Given the description of an element on the screen output the (x, y) to click on. 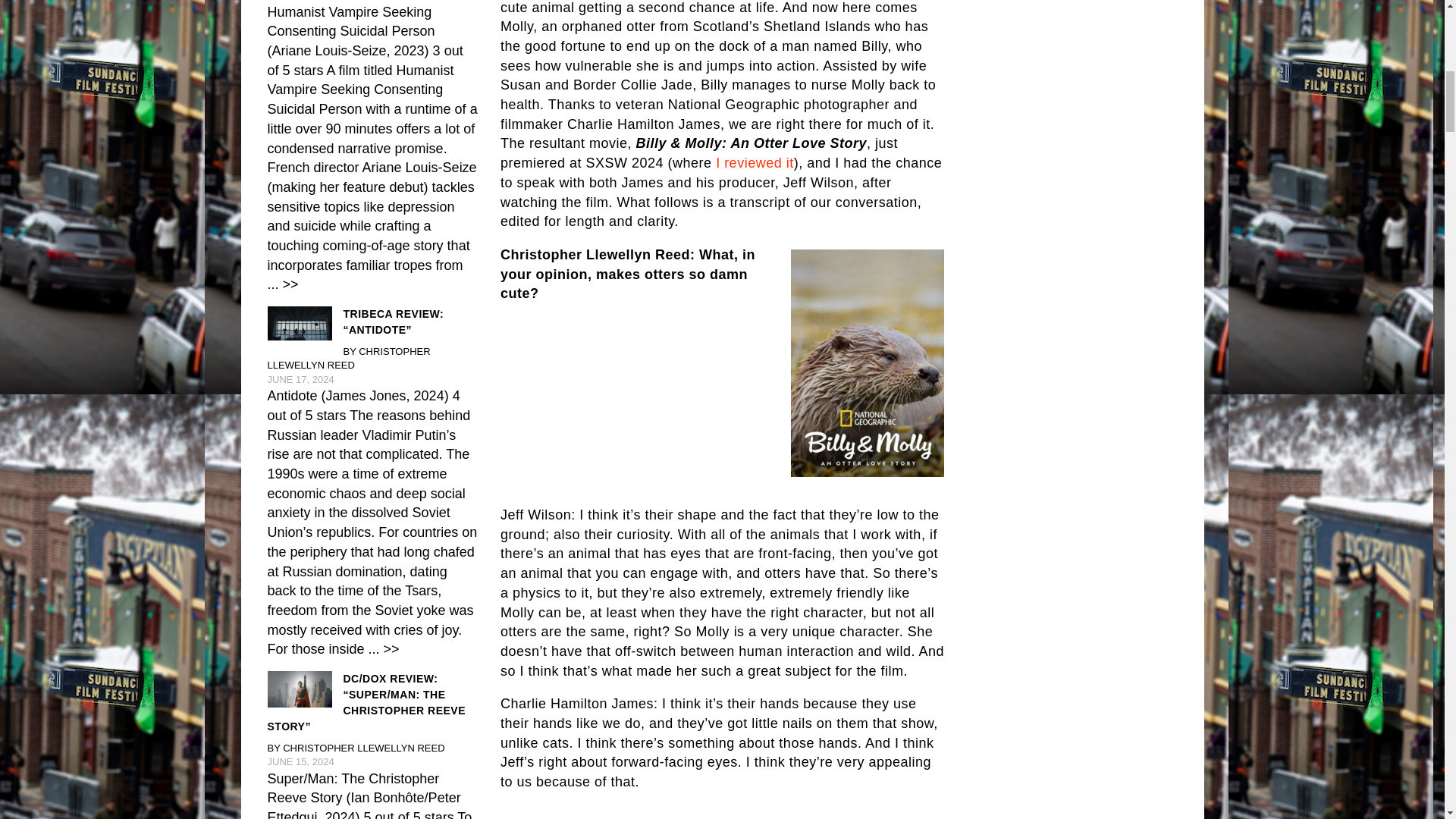
I reviewed it (754, 162)
